Given the description of an element on the screen output the (x, y) to click on. 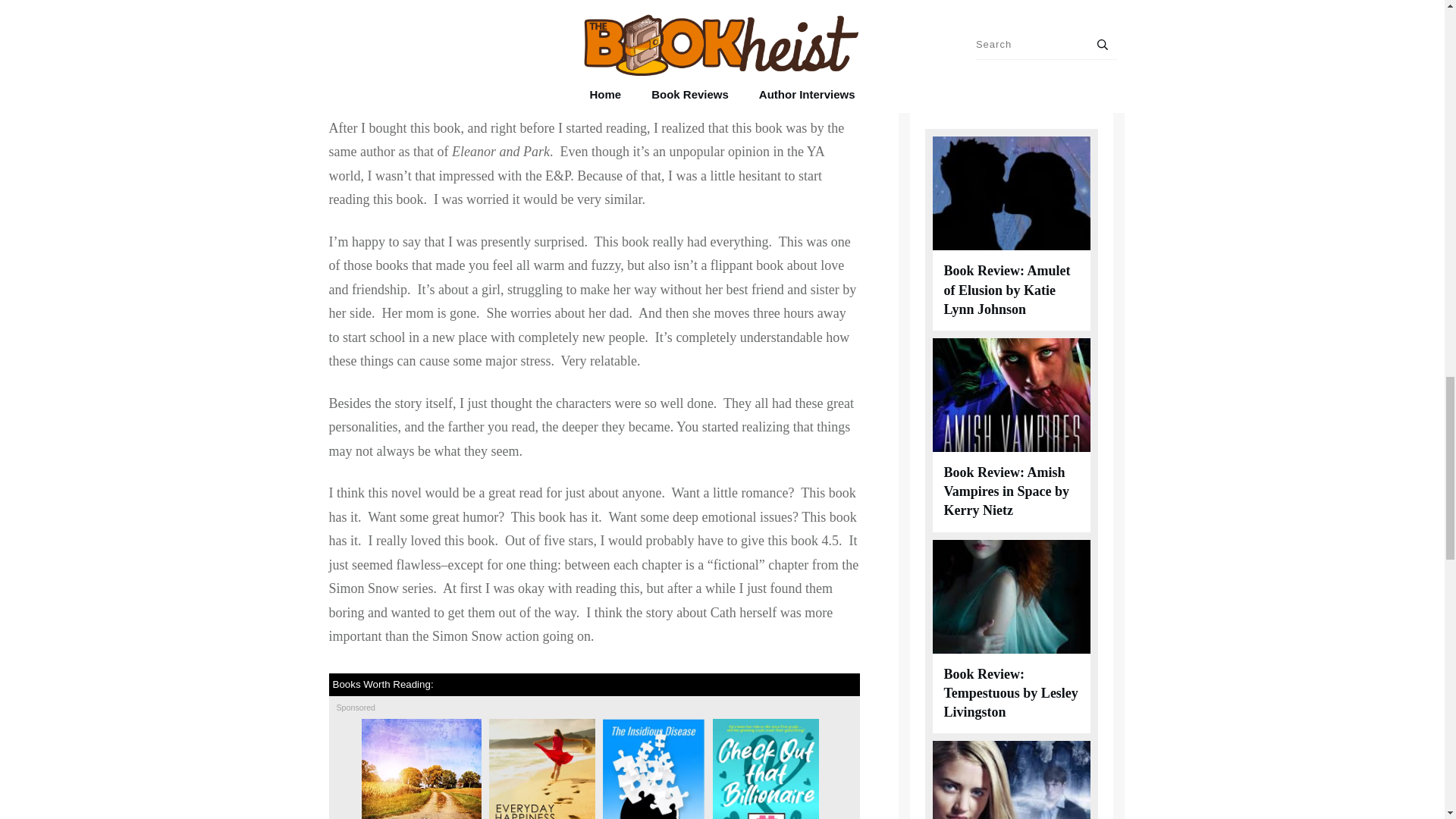
Book Review: Amish Vampires in Space by Kerry Nietz (1005, 491)
Book Review: Amulet of Elusion by Katie Lynn Johnson (1006, 289)
Book Review: Tempestuous by Lesley Livingston (1010, 692)
